Given the description of an element on the screen output the (x, y) to click on. 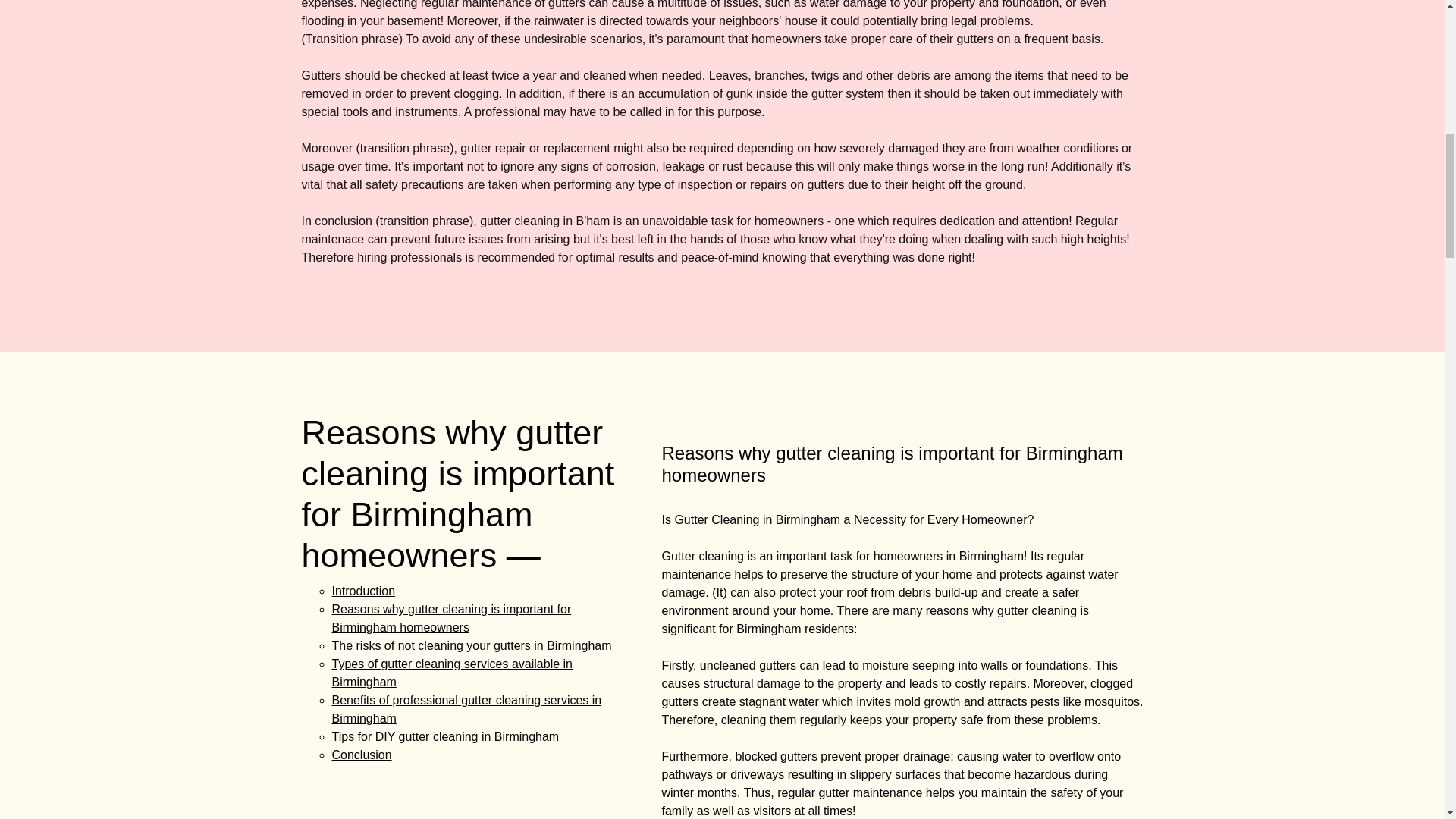
Introduction (363, 590)
Conclusion (361, 754)
The risks of not cleaning your gutters in Birmingham (471, 645)
Tips for DIY gutter cleaning in Birmingham (445, 736)
Types of gutter cleaning services available in Birmingham (452, 672)
